Given the description of an element on the screen output the (x, y) to click on. 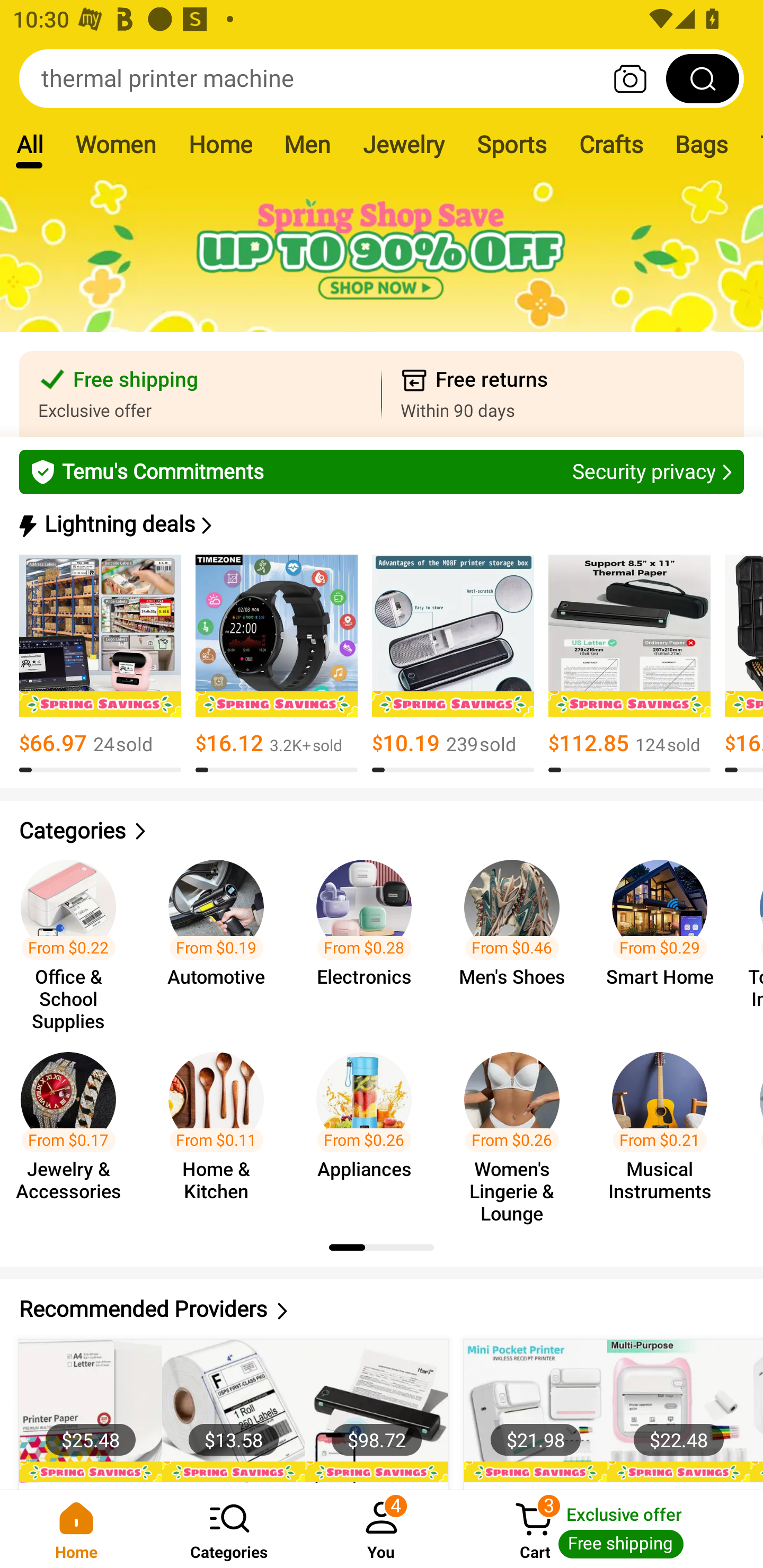
thermal printer machine (381, 78)
All (29, 144)
Women (115, 144)
Home (219, 144)
Men (306, 144)
Jewelry (403, 144)
Sports (511, 144)
Crafts (611, 144)
Bags (701, 144)
Free shipping Exclusive offer (200, 394)
Free returns Within 90 days (562, 394)
Temu's Commitments (381, 471)
Lightning deals (379, 524)
$66.97 24￼sold 8.0 (100, 664)
$16.12 3.2K+￼sold 8.0 (276, 664)
$10.19 239￼sold 8.0 (453, 664)
$112.85 124￼sold 8.0 (629, 664)
Categories (381, 830)
From $0.22 Office & School Supplies (74, 936)
From $0.19 Automotive (222, 936)
From $0.28 Electronics (369, 936)
From $0.46 Men's Shoes (517, 936)
From $0.29 Smart Home (665, 936)
From $0.17 Jewelry & Accessories (74, 1128)
From $0.11 Home & Kitchen (222, 1128)
From $0.26 Appliances (369, 1128)
From $0.26 Women's Lingerie & Lounge (517, 1128)
From $0.21 Musical Instruments (665, 1128)
Recommended Providers (381, 1309)
Home (76, 1528)
Categories (228, 1528)
You 4 You (381, 1528)
Cart 3 Cart Exclusive offer (610, 1528)
